Given the description of an element on the screen output the (x, y) to click on. 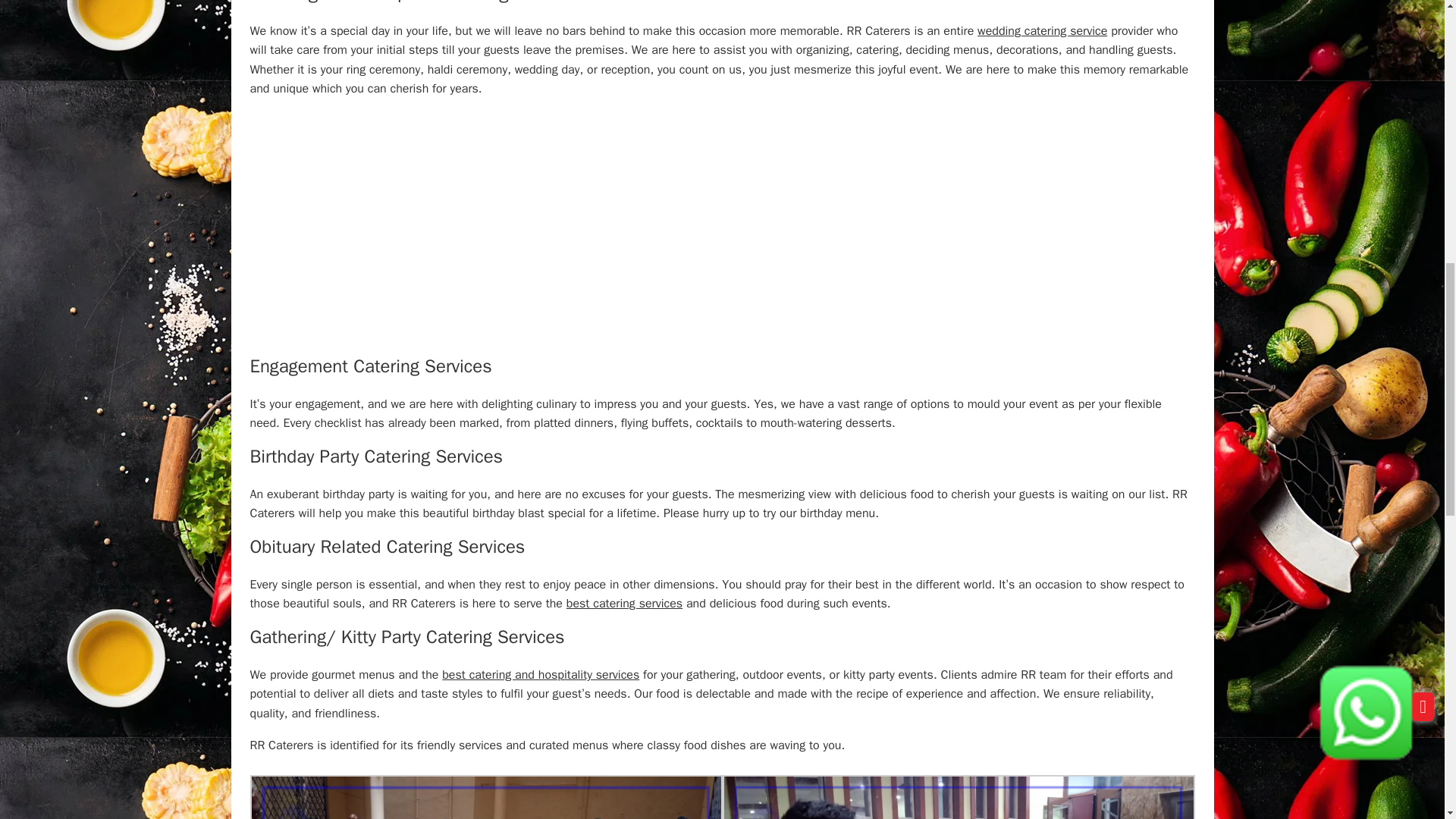
YouTube video player (721, 230)
wedding catering service (1041, 30)
best catering services (624, 603)
best catering and hospitality services (540, 674)
